Given the description of an element on the screen output the (x, y) to click on. 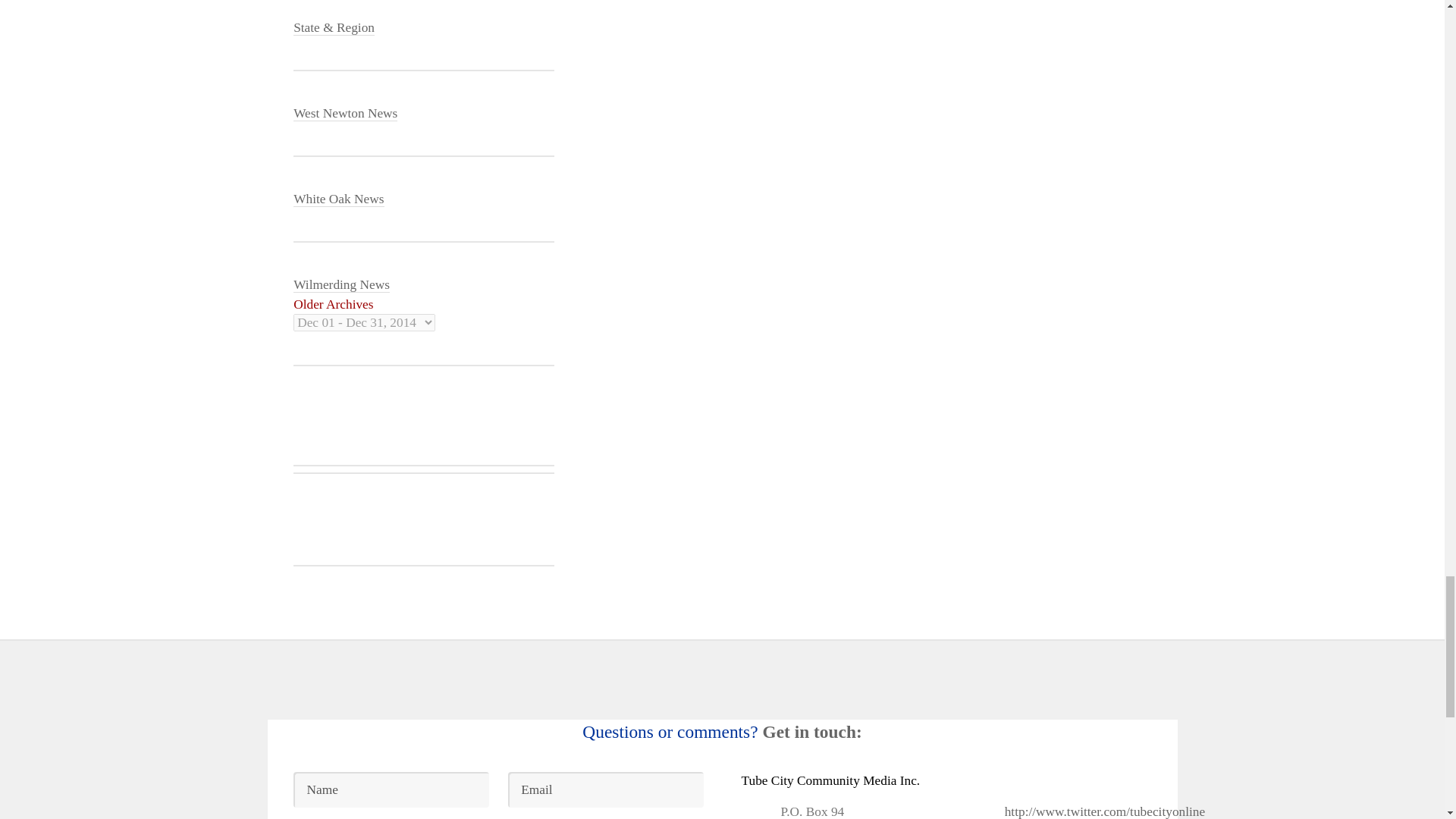
West Newton News (345, 113)
Wilmerding News (342, 284)
White Oak News (339, 199)
